Given the description of an element on the screen output the (x, y) to click on. 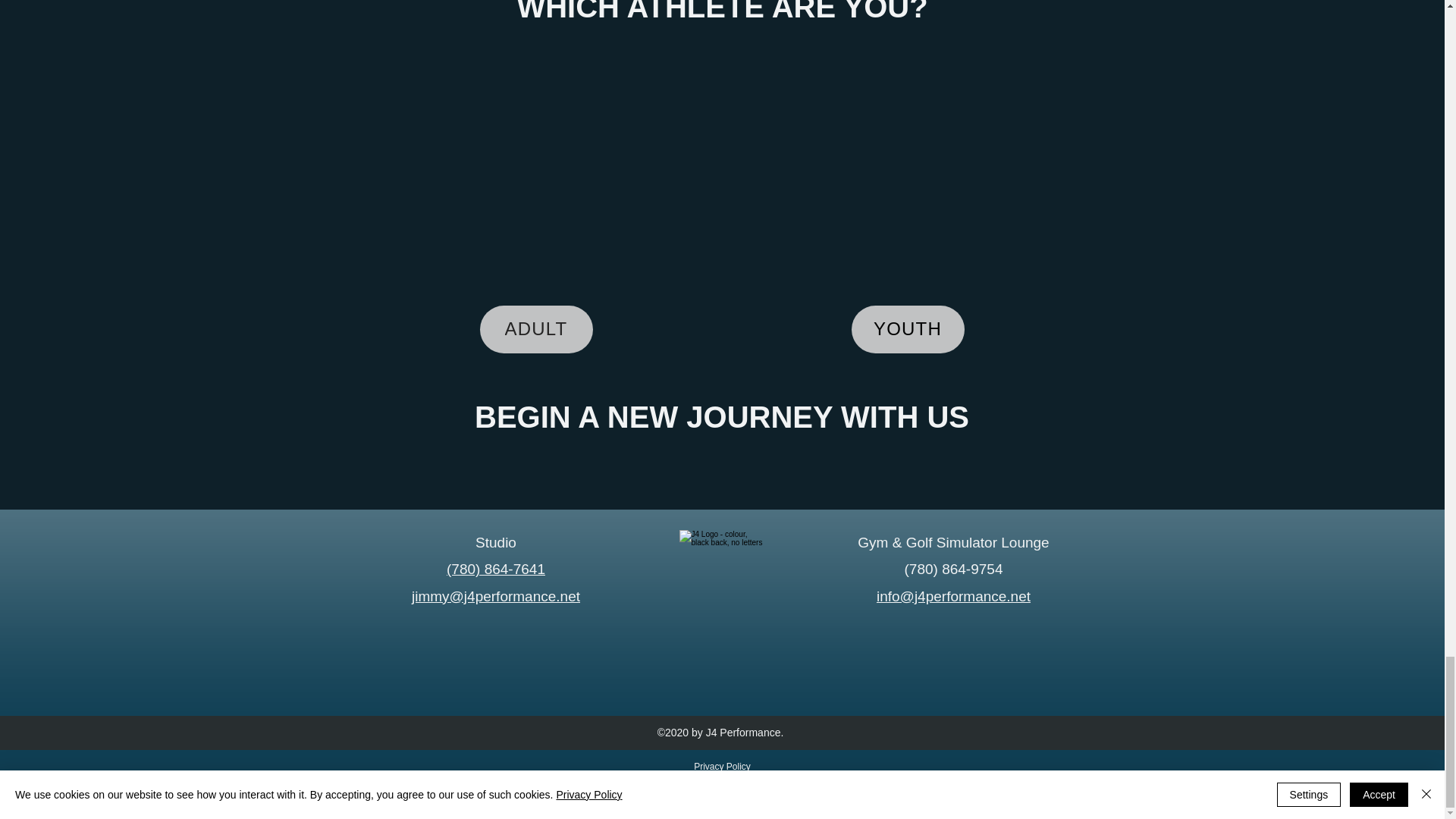
YOUTH (906, 328)
Privacy Policy (722, 766)
ADULT (535, 328)
Terms of Use (722, 783)
